Given the description of an element on the screen output the (x, y) to click on. 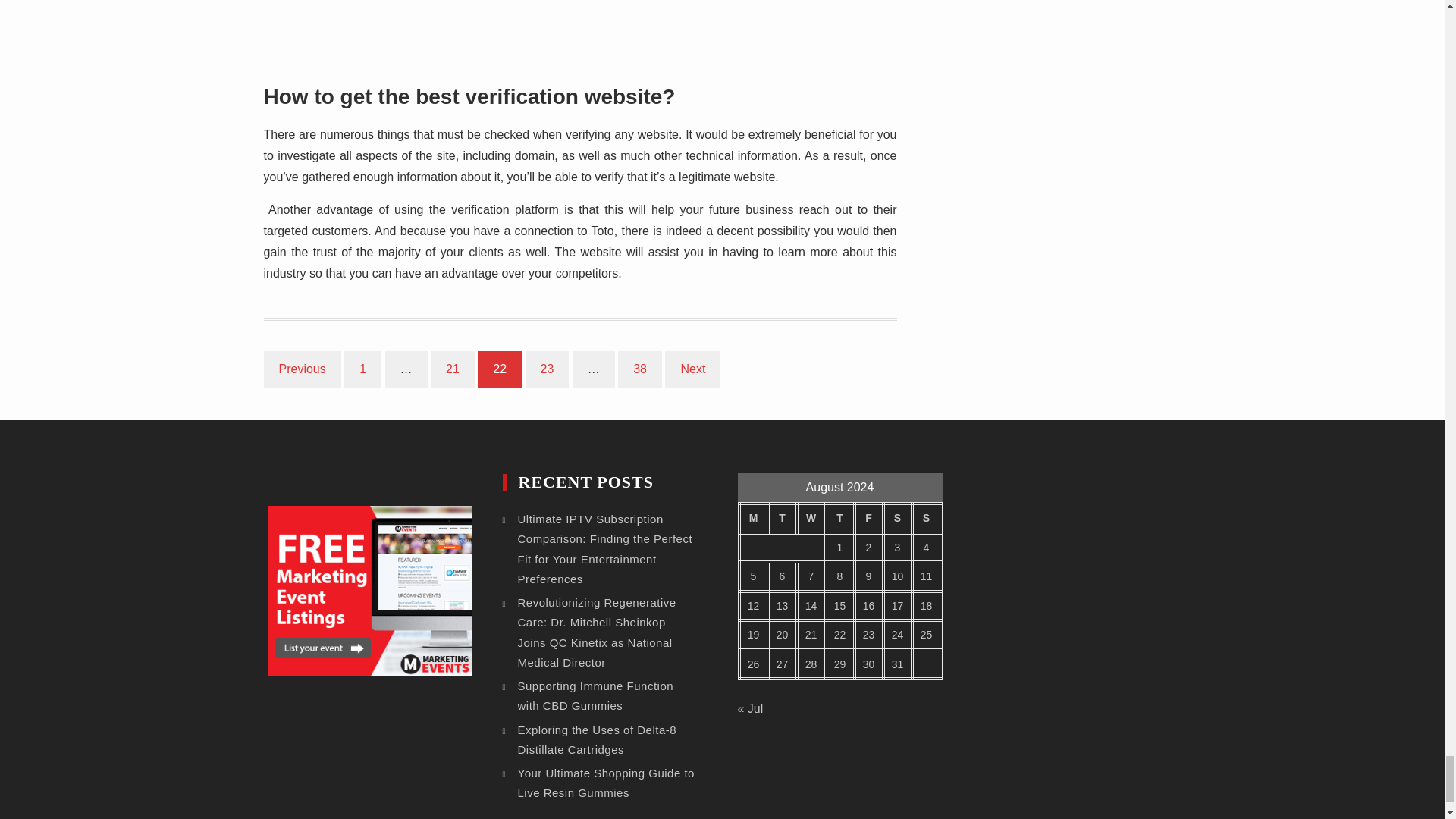
Thursday (839, 518)
Sunday (925, 518)
Monday (752, 518)
Wednesday (810, 518)
Tuesday (781, 518)
Friday (867, 518)
Saturday (896, 518)
